Given the description of an element on the screen output the (x, y) to click on. 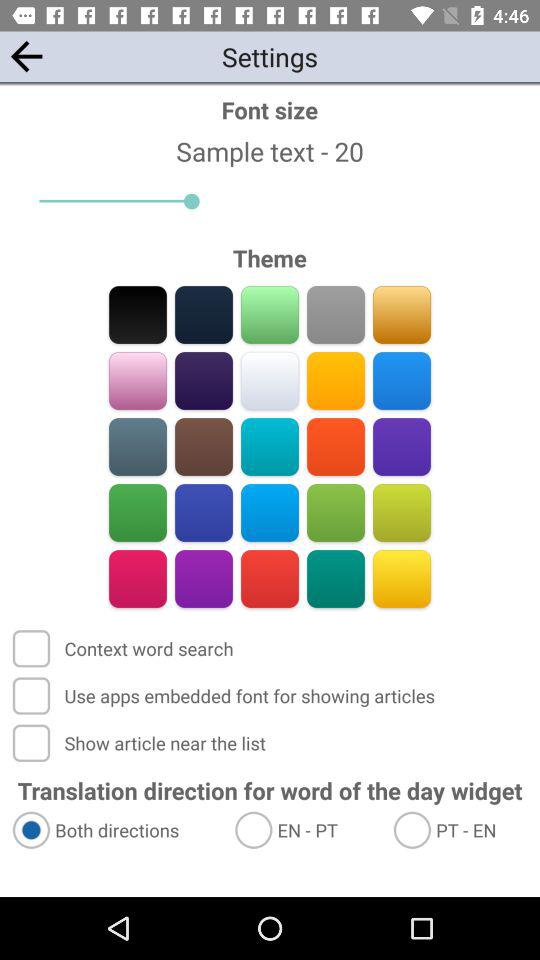
choose color (401, 380)
